Given the description of an element on the screen output the (x, y) to click on. 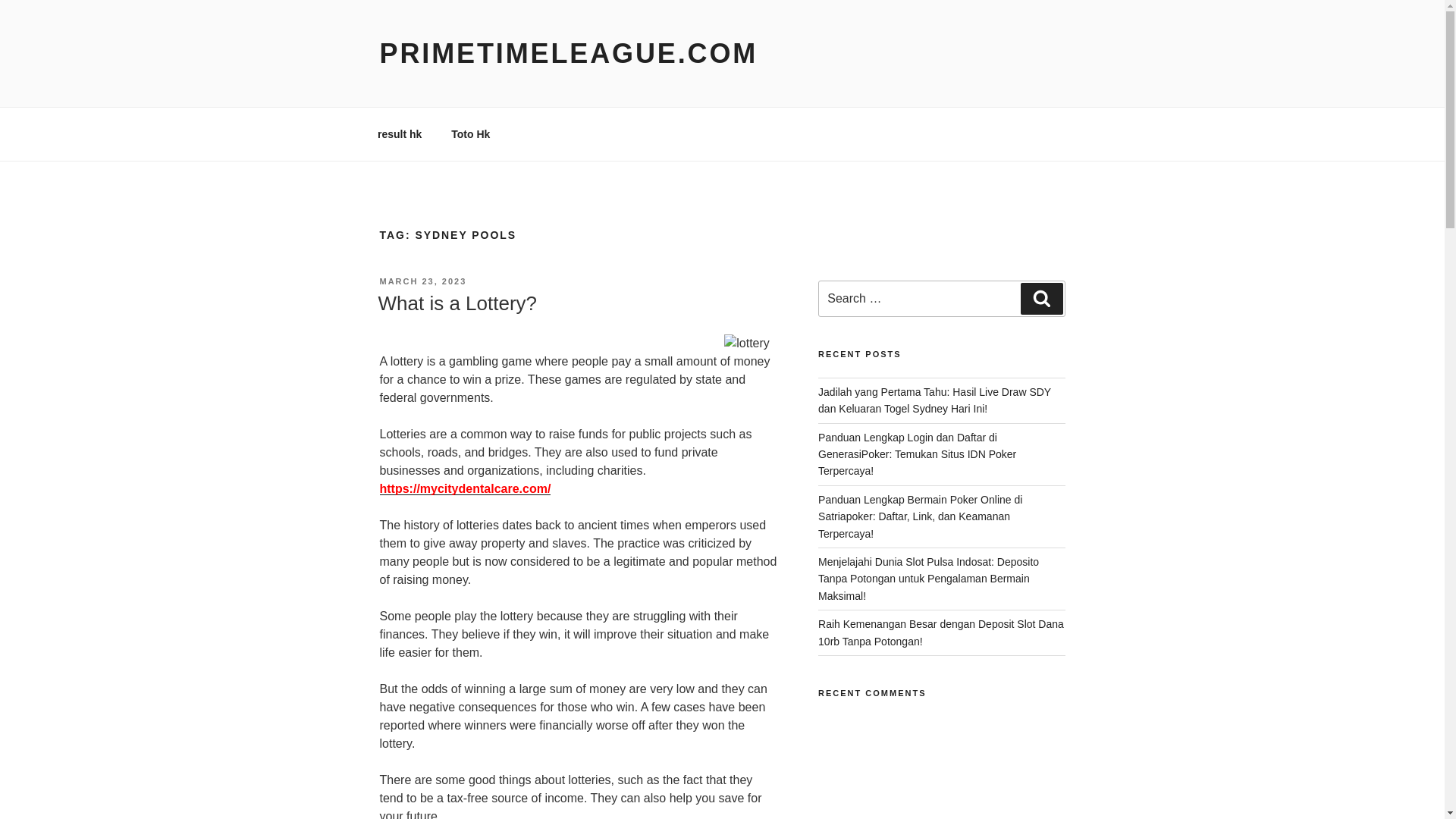
result hk (398, 133)
What is a Lottery? (457, 302)
MARCH 23, 2023 (421, 280)
Search (1041, 298)
PRIMETIMELEAGUE.COM (567, 52)
Toto Hk (470, 133)
